Given the description of an element on the screen output the (x, y) to click on. 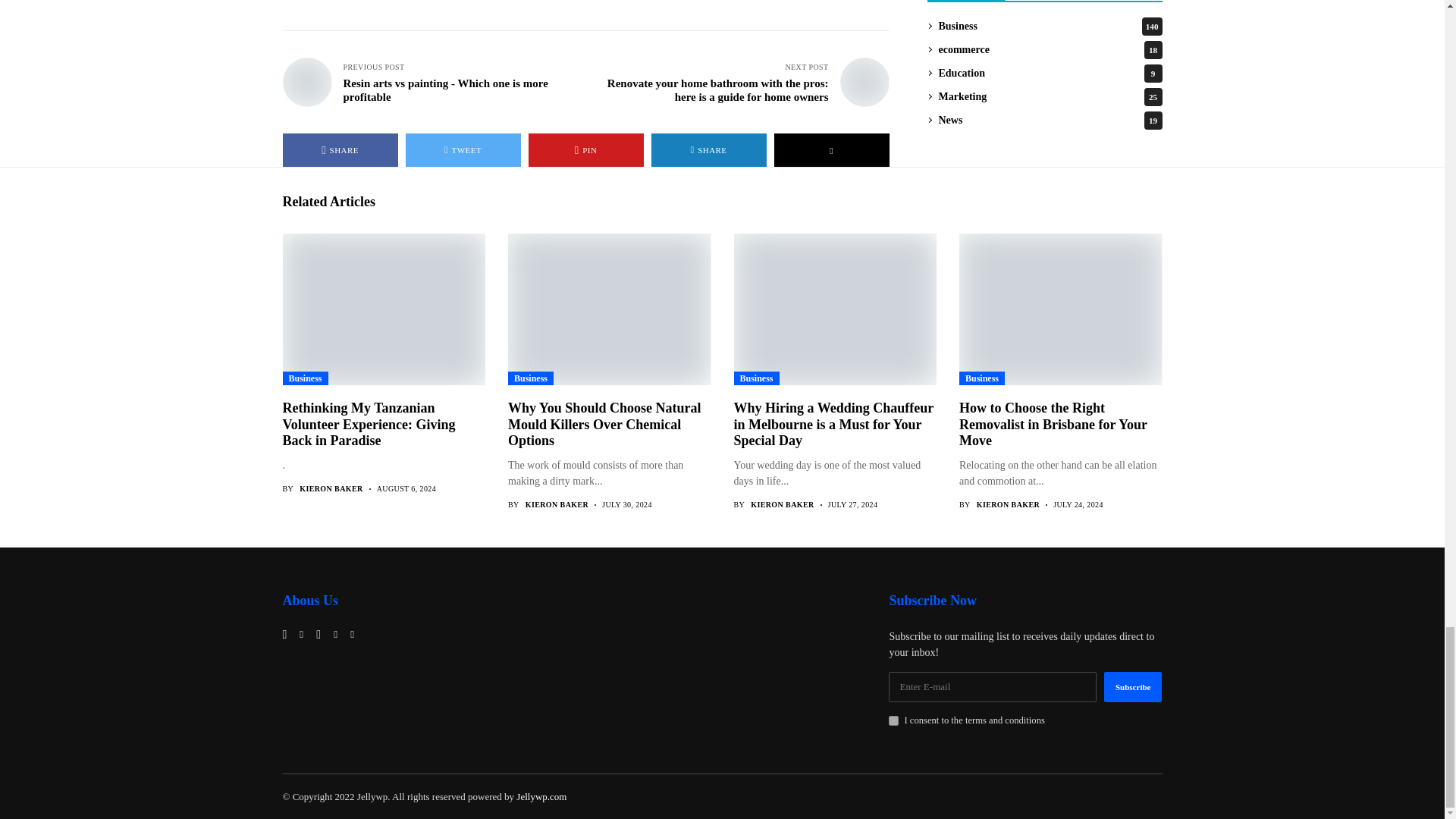
Posts by Kieron Baker (330, 488)
1 (893, 720)
Posts by Kieron Baker (782, 504)
Posts by Kieron Baker (1007, 504)
Subscribe (1132, 686)
Posts by Kieron Baker (556, 504)
